Given the description of an element on the screen output the (x, y) to click on. 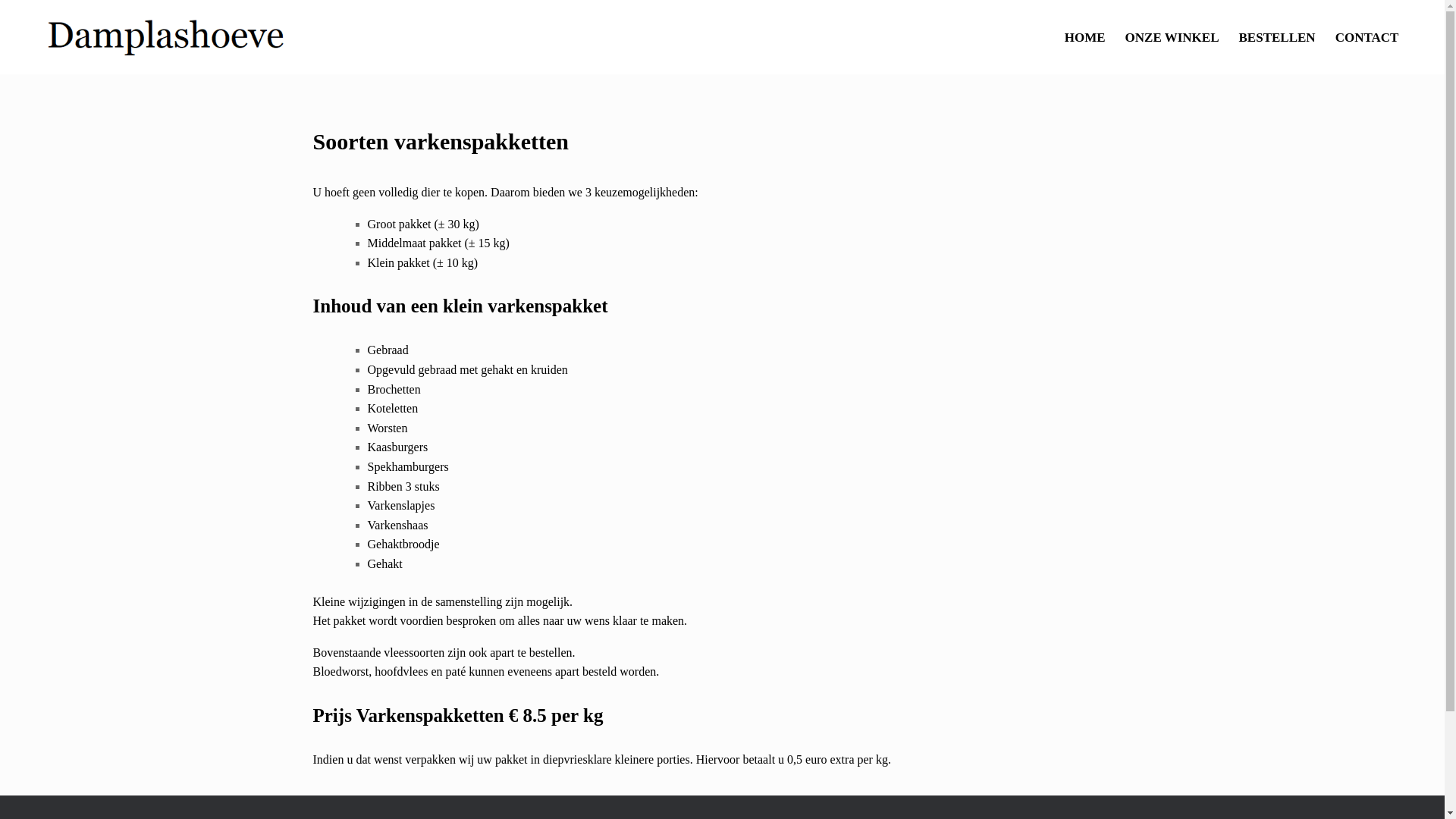
Damplashoeve Element type: hover (166, 37)
ONZE WINKEL Element type: text (1172, 36)
BESTELLEN Element type: text (1277, 36)
CONTACT Element type: text (1366, 36)
HOME Element type: text (1084, 36)
